Given the description of an element on the screen output the (x, y) to click on. 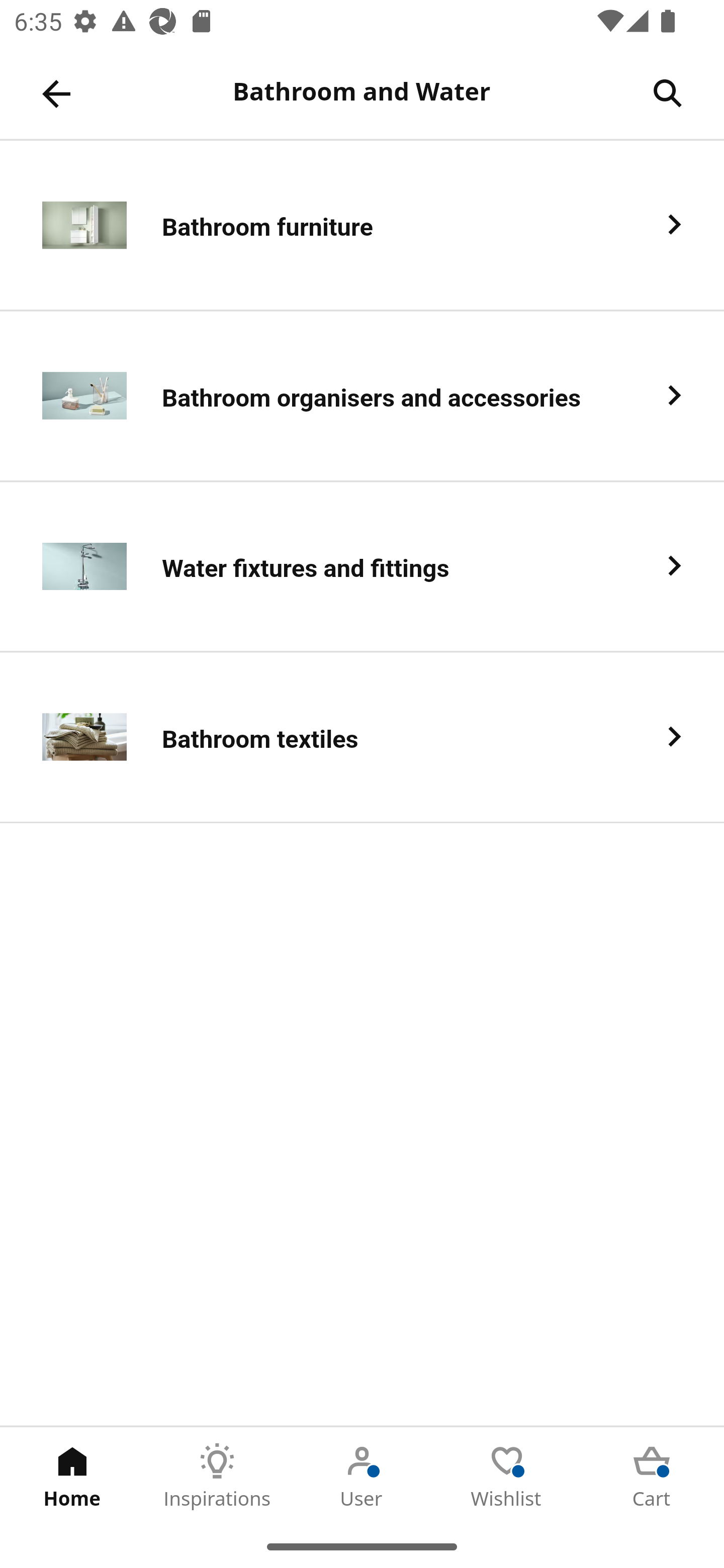
Bathroom furniture (362, 226)
Bathroom organisers and accessories (362, 396)
Water fixtures and fittings (362, 566)
Bathroom textiles (362, 737)
Home
Tab 1 of 5 (72, 1476)
Inspirations
Tab 2 of 5 (216, 1476)
User
Tab 3 of 5 (361, 1476)
Wishlist
Tab 4 of 5 (506, 1476)
Cart
Tab 5 of 5 (651, 1476)
